Given the description of an element on the screen output the (x, y) to click on. 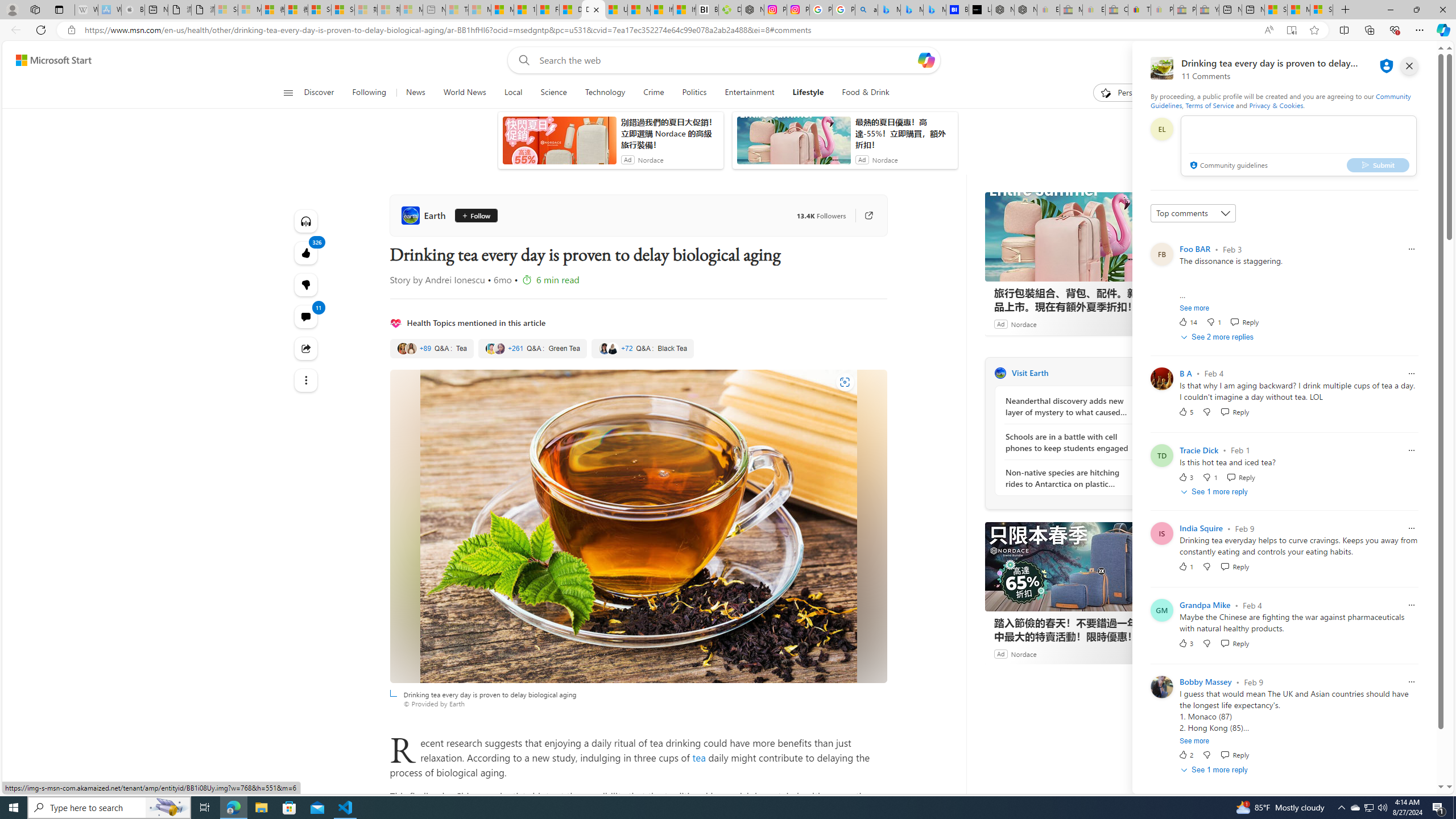
Open navigation menu (287, 92)
New tab (1253, 9)
Local (512, 92)
tea (698, 757)
Class: button-glyph (287, 92)
B A (1185, 373)
Microsoft Start (53, 60)
Entertainment (748, 92)
Close (1442, 9)
Microsoft Bing Travel - Shangri-La Hotel Bangkok (934, 9)
View site information (70, 29)
